Given the description of an element on the screen output the (x, y) to click on. 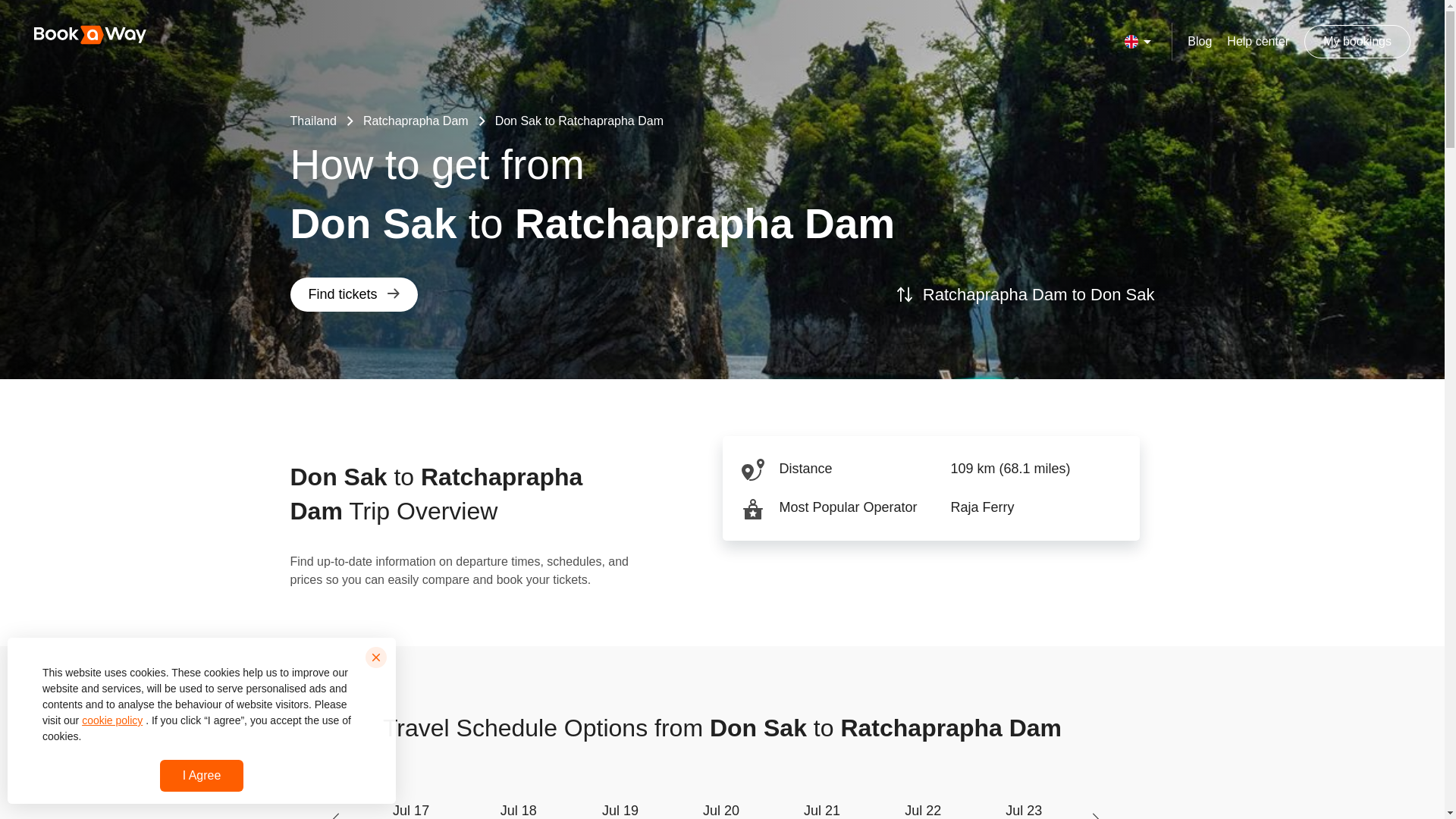
Find tickets (619, 807)
Don Sak to Ratchaprapha Dam (921, 807)
Ratchaprapha Dam (352, 294)
Blog (579, 120)
Thailand (410, 807)
Help center (415, 120)
Raja Ferry (1199, 41)
My bookings (821, 807)
Ratchaprapha Dam to Don Sak (312, 120)
